Given the description of an element on the screen output the (x, y) to click on. 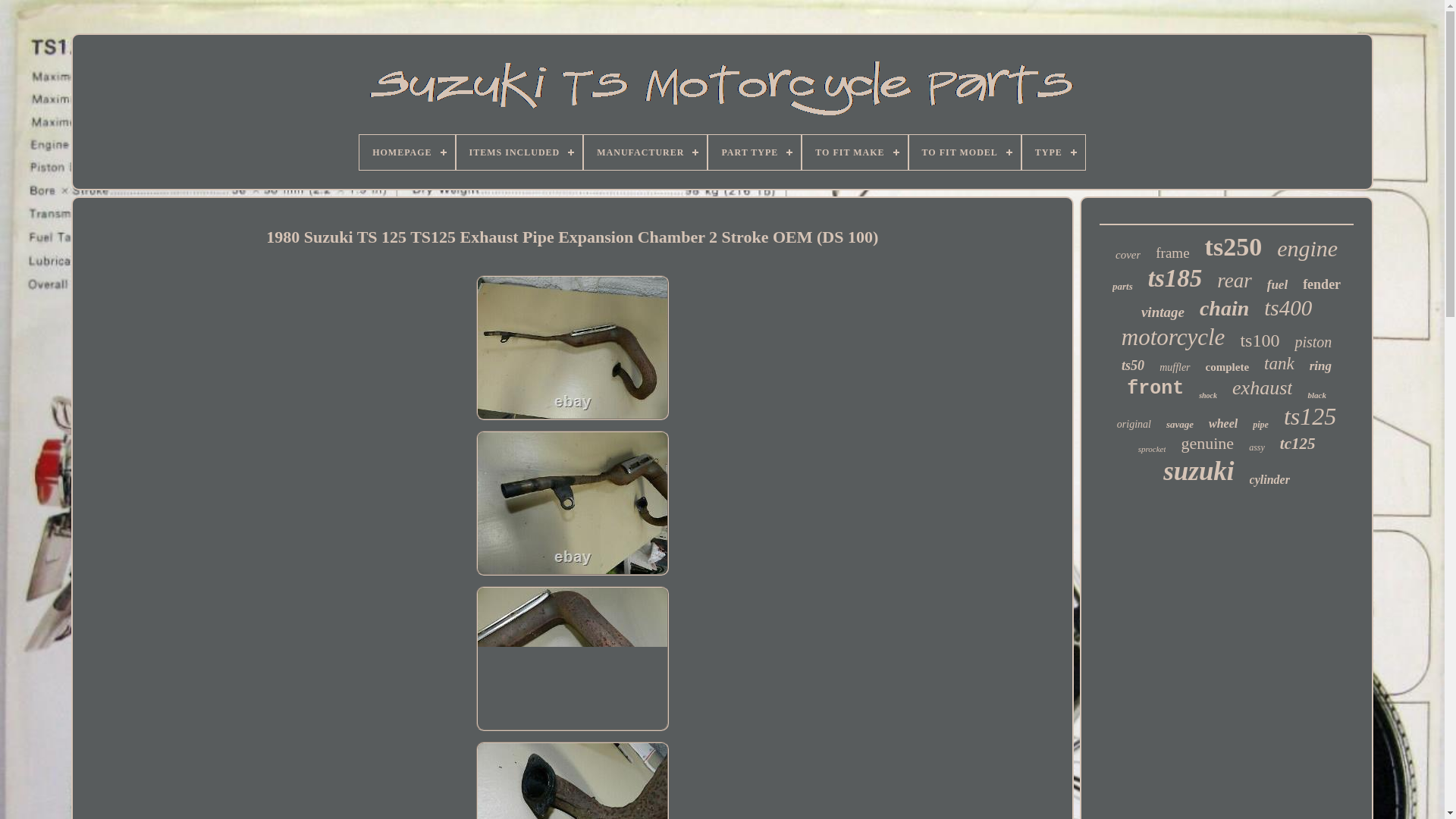
MANUFACTURER (644, 152)
PART TYPE (753, 152)
HOMEPAGE (406, 152)
ITEMS INCLUDED (520, 152)
